Given the description of an element on the screen output the (x, y) to click on. 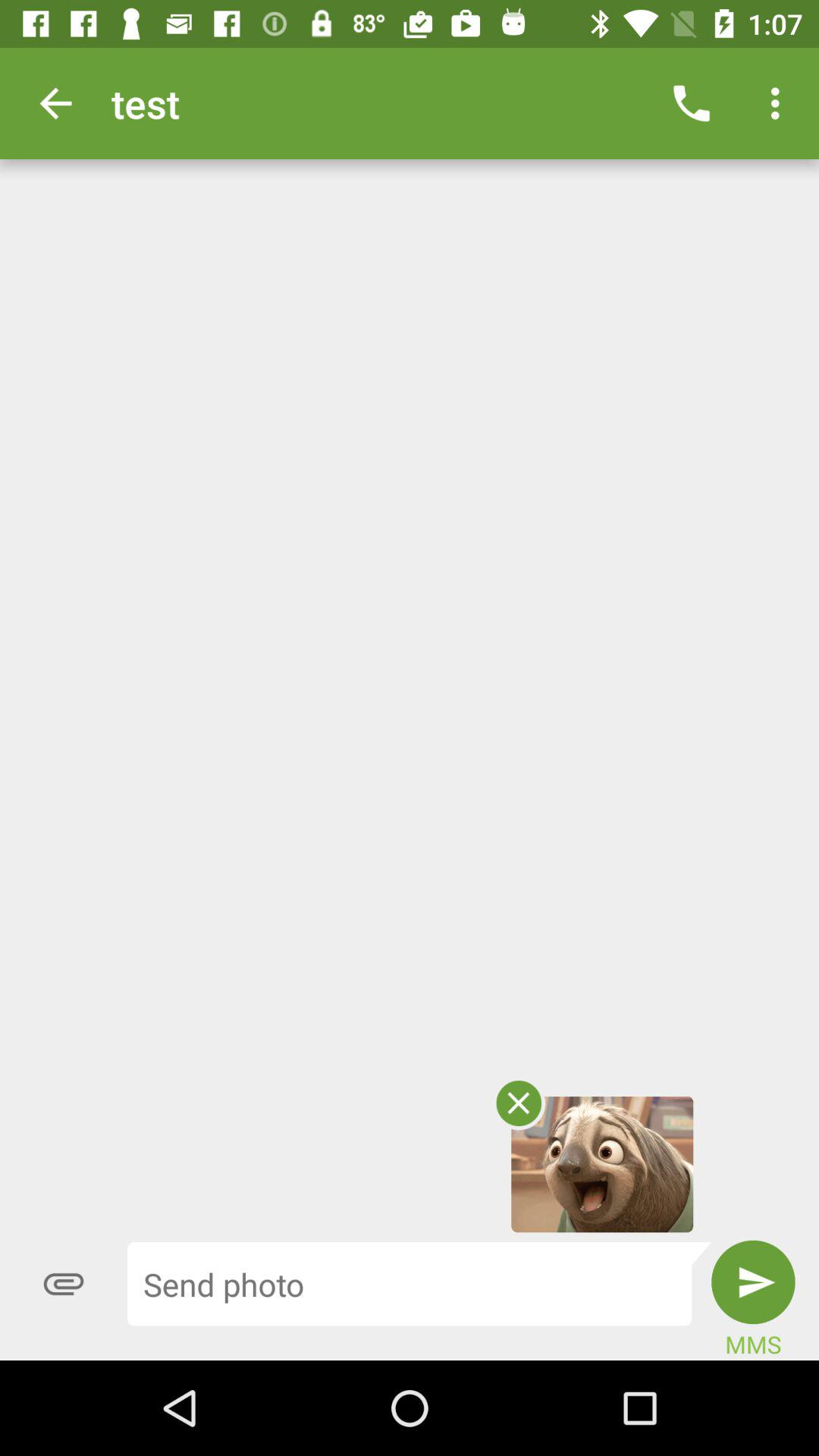
click item above mms item (753, 1282)
